Given the description of an element on the screen output the (x, y) to click on. 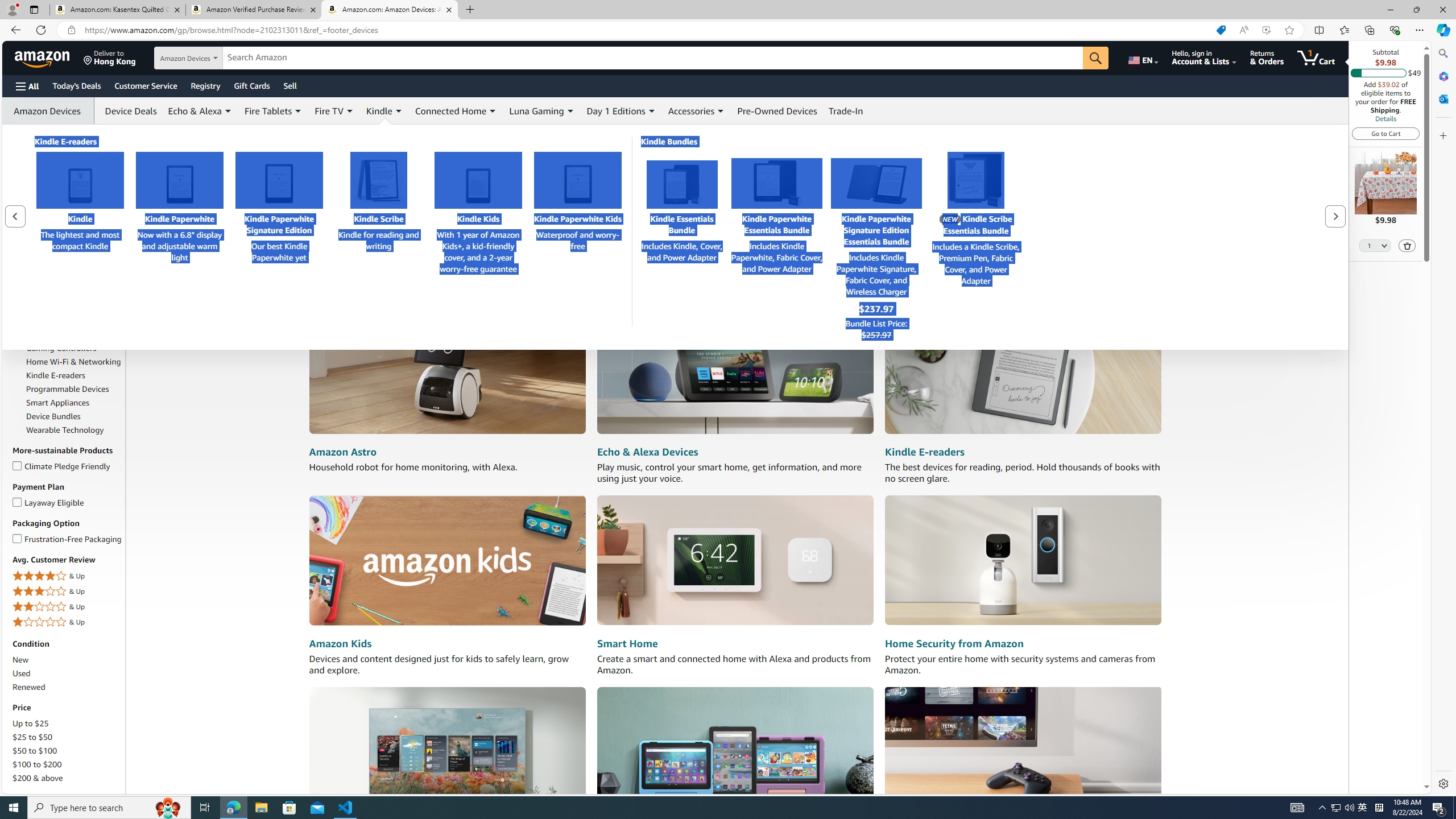
Expand Luna Gaming (569, 111)
Echo & Alexa Devices (734, 369)
Search in (210, 58)
Trade-In (845, 110)
Luna Gaming (541, 110)
2 Stars & Up (67, 606)
Climate Pledge Friendly Climate Pledge Friendly (61, 465)
$25 to $50 (67, 736)
Programmable Devices (67, 388)
New (67, 659)
